Given the description of an element on the screen output the (x, y) to click on. 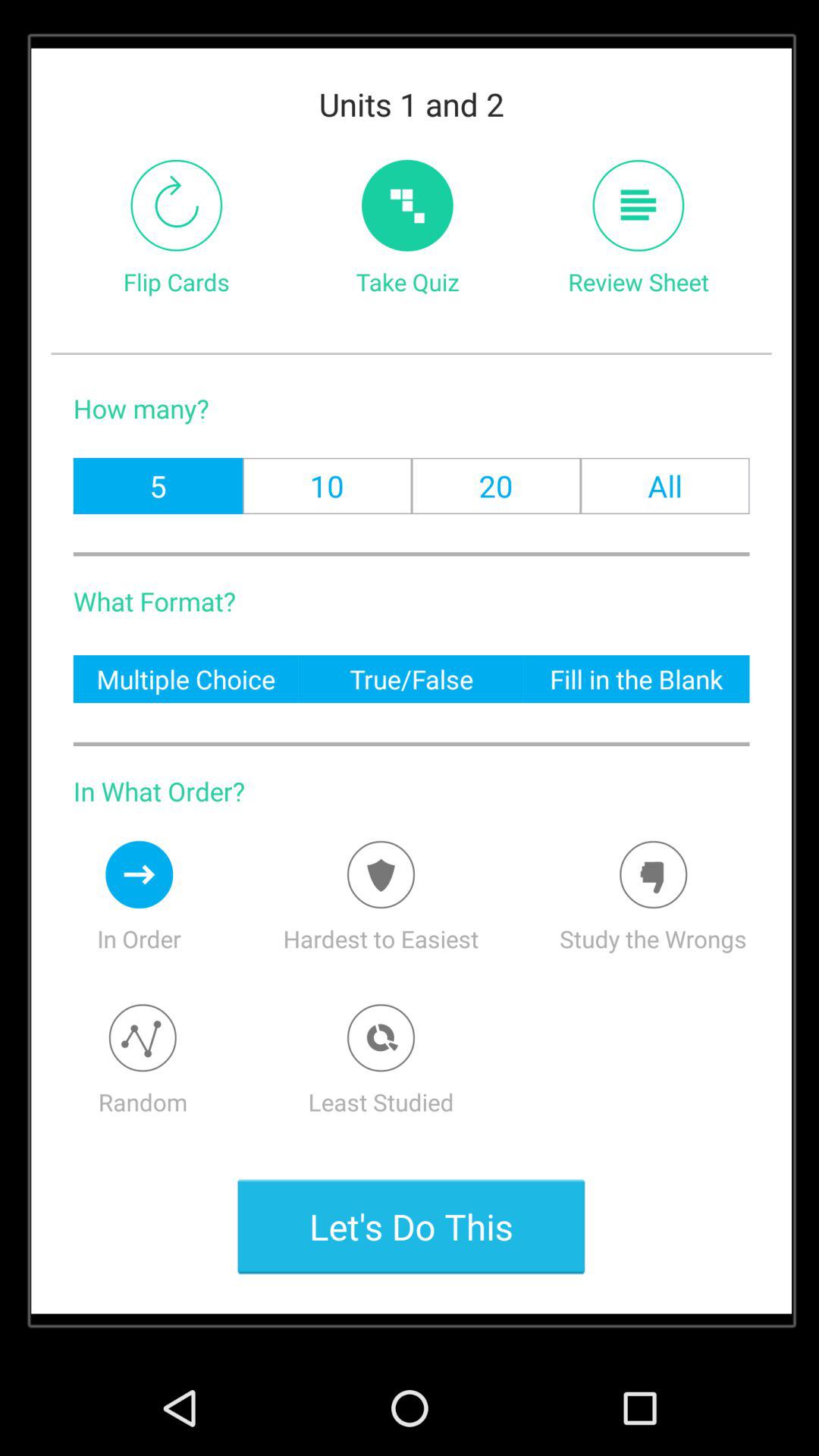
tap the fill in the icon (636, 678)
